Given the description of an element on the screen output the (x, y) to click on. 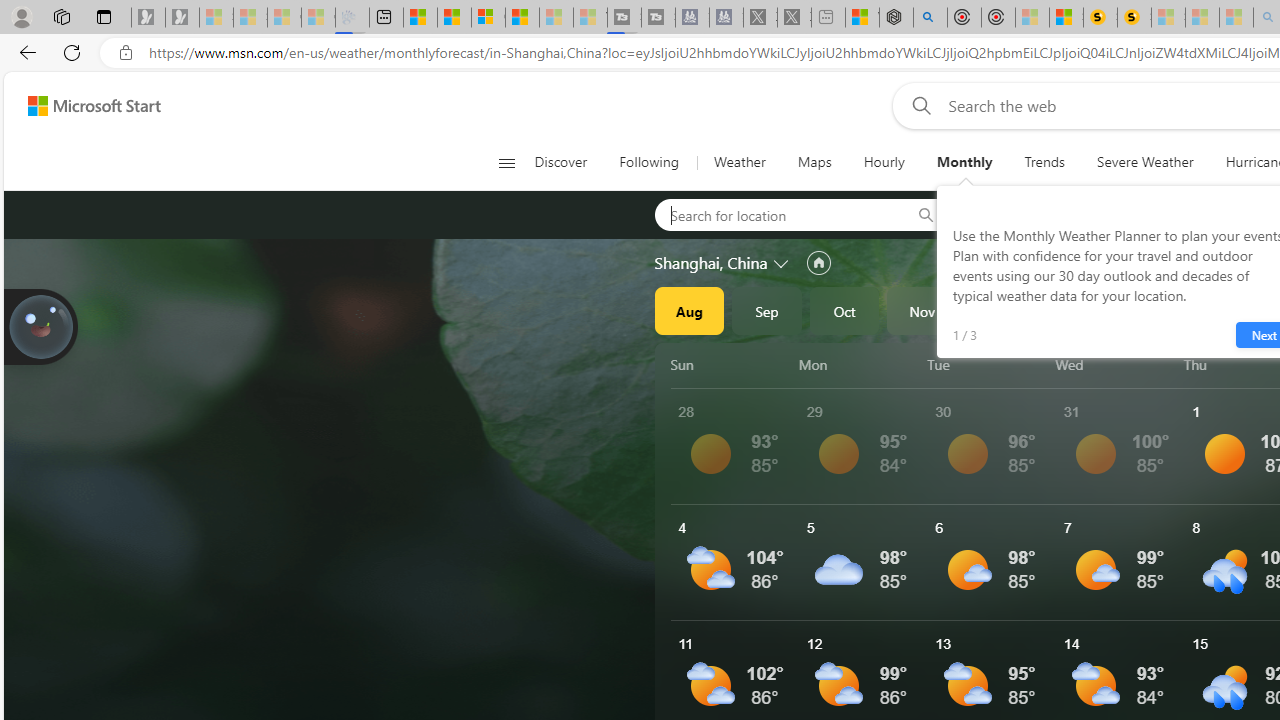
See More Details (1120, 561)
Weather (739, 162)
Feb (1155, 310)
2025Jan (1077, 310)
Nov (922, 310)
poe - Search (930, 17)
Shanghai, China (711, 263)
Sep (767, 310)
Sep (767, 310)
Aberdeen (1014, 214)
Skip to content (86, 105)
Dec (1000, 310)
